Given the description of an element on the screen output the (x, y) to click on. 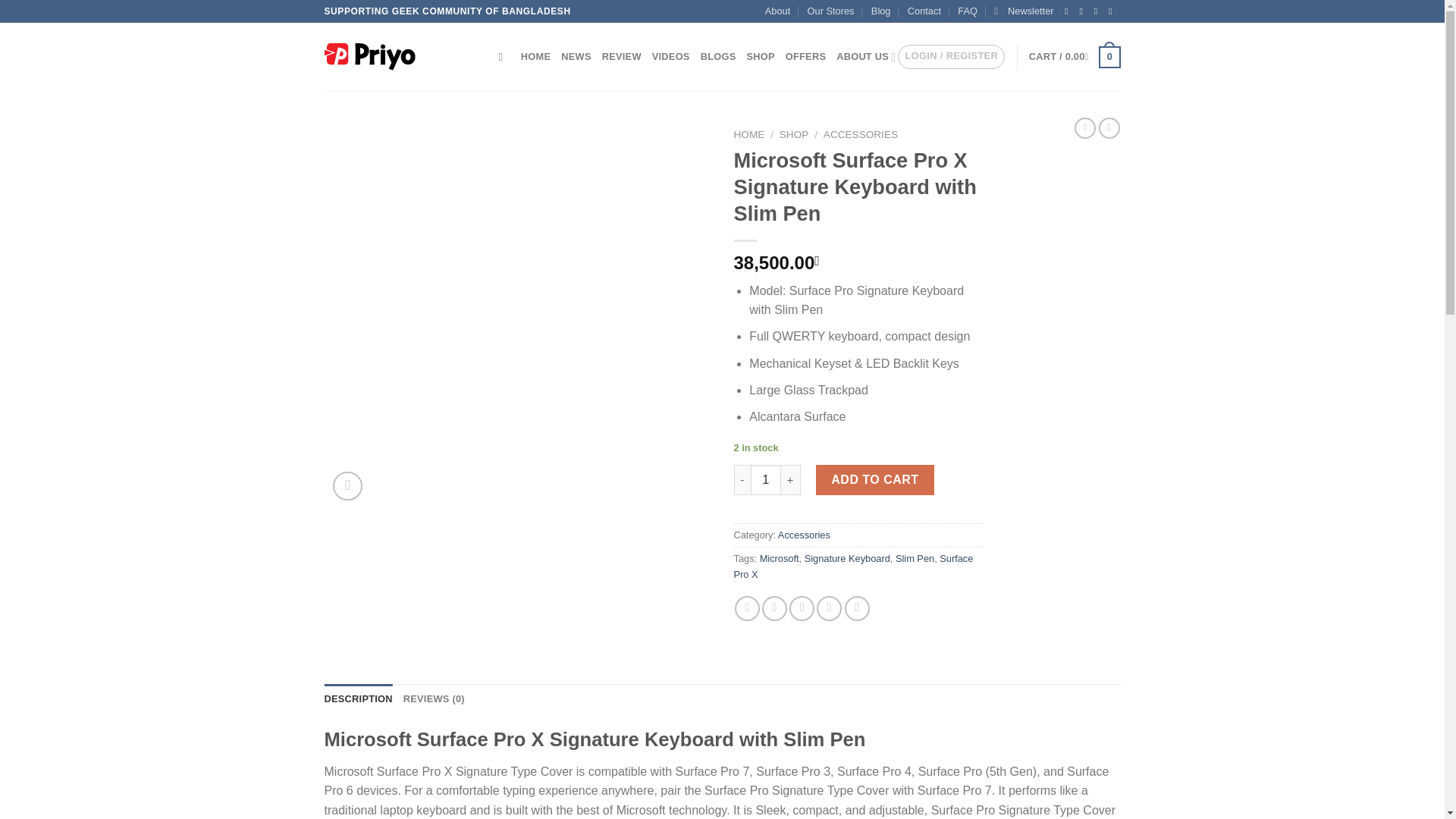
NEWS (575, 56)
About (777, 11)
HOME (535, 56)
SHOP (759, 56)
Cart (1075, 57)
VIDEOS (671, 56)
ACCESSORIES (861, 134)
BLOGS (718, 56)
Our Stores (831, 11)
HOME (749, 134)
Sign up for Newsletter (1023, 11)
OFFERS (805, 56)
1 (765, 480)
ABOUT US (865, 56)
REVIEW (622, 56)
